Given the description of an element on the screen output the (x, y) to click on. 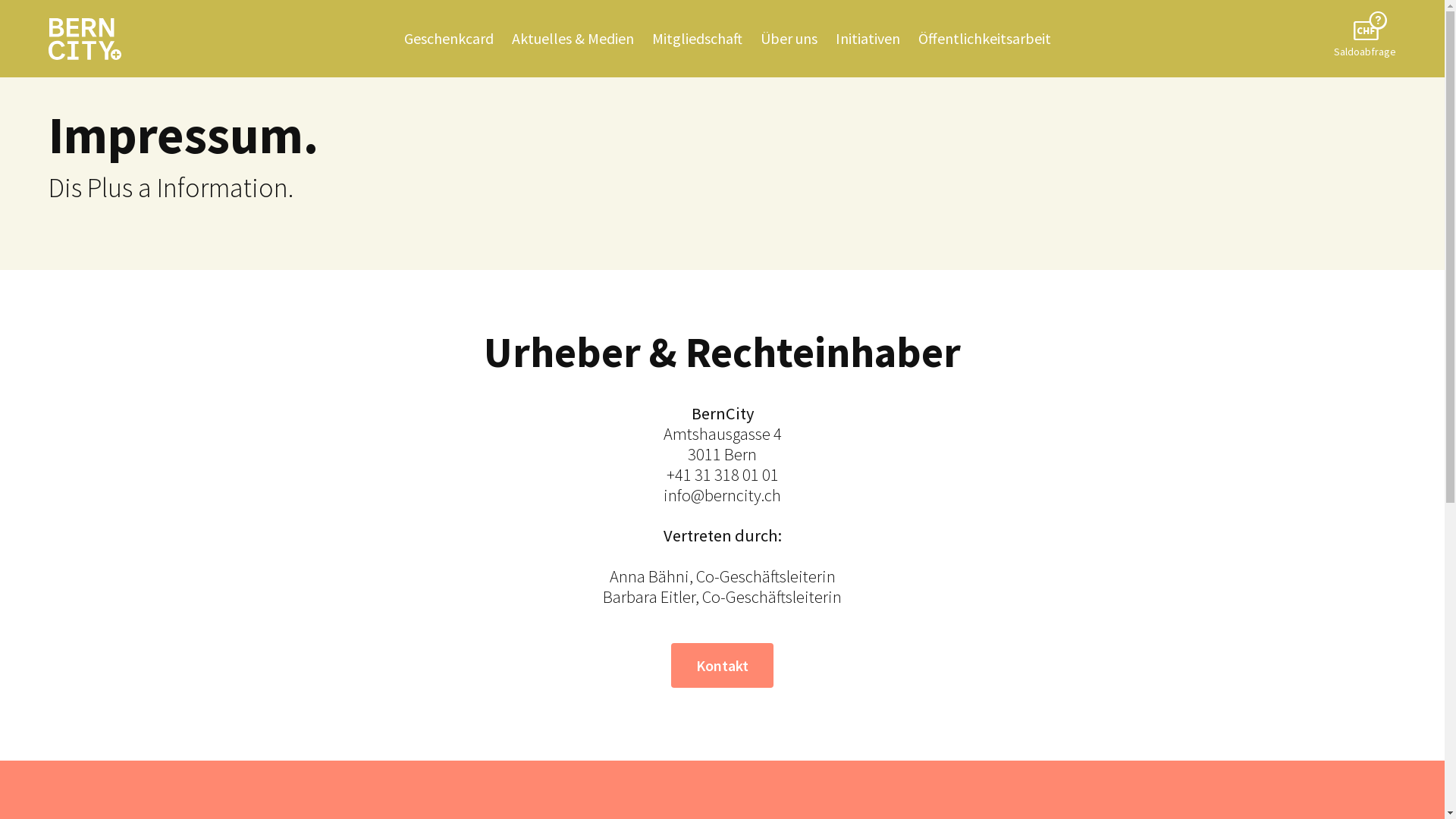
Saldoabfrage Element type: text (1364, 38)
Aktuelles & Medien Element type: text (572, 38)
info@berncity.ch Element type: text (722, 494)
Mitgliedschaft Element type: text (697, 38)
Kontakt Element type: text (722, 665)
Initiativen Element type: text (867, 38)
Geschenkcard Element type: text (448, 38)
